Given the description of an element on the screen output the (x, y) to click on. 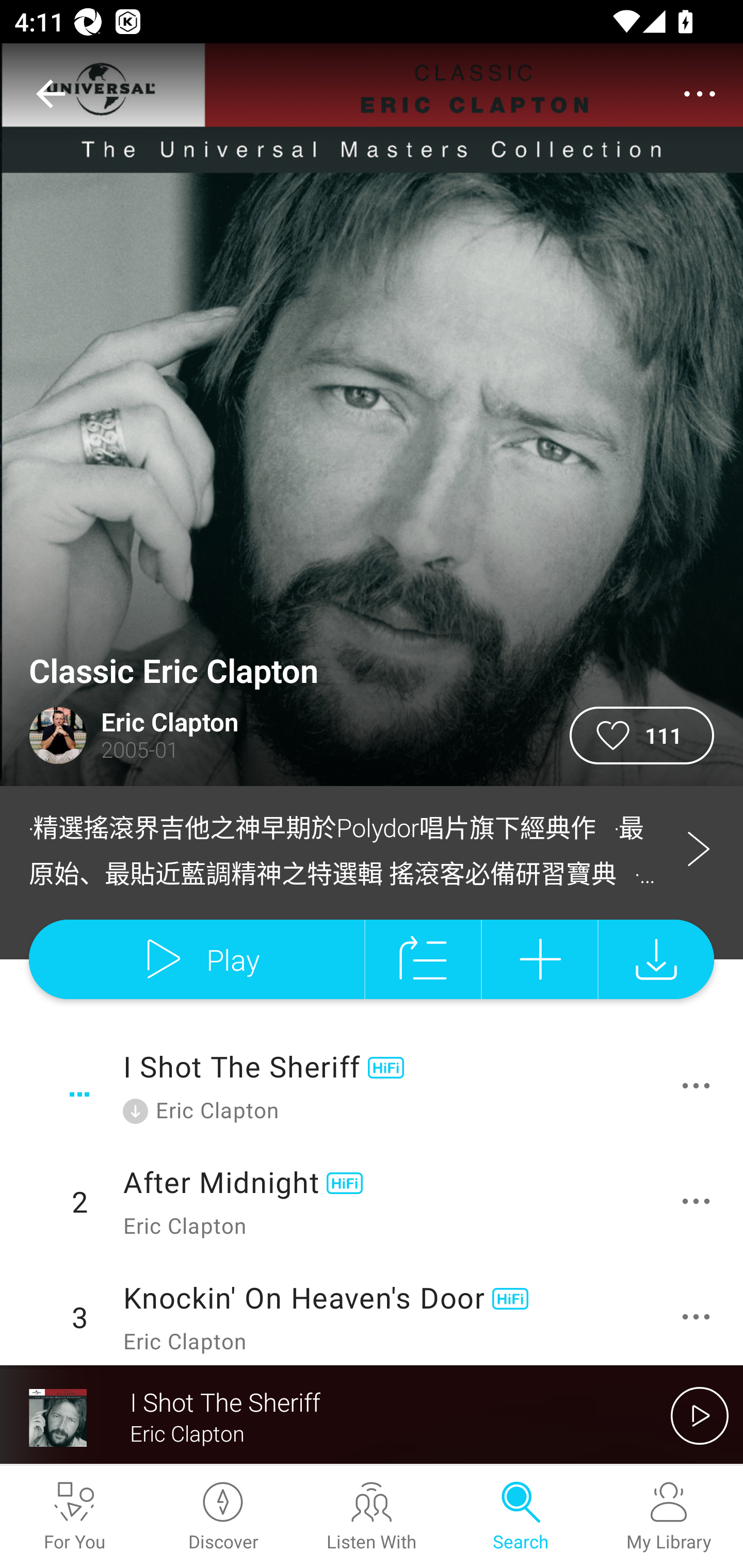
overflow (699, 93)
view_image Eric Clapton label_curator 2005-01 (284, 736)
111 button_subscription (641, 736)
Play (196, 959)
add to queue (422, 959)
加入至歌單 (539, 959)
下載歌曲至手機 (656, 959)
I Shot The Sheriff 已下載 Eric Clapton 更多操作選項 (371, 1085)
更多操作選項 (699, 1085)
2 After Midnight Eric Clapton 更多操作選項 (371, 1201)
更多操作選項 (699, 1201)
3 Knockin' On Heaven's Door Eric Clapton 更多操作選項 (371, 1312)
更多操作選項 (699, 1317)
開始播放 (699, 1415)
For You (74, 1517)
Discover (222, 1517)
Listen With (371, 1517)
Search (519, 1517)
My Library (668, 1517)
